Given the description of an element on the screen output the (x, y) to click on. 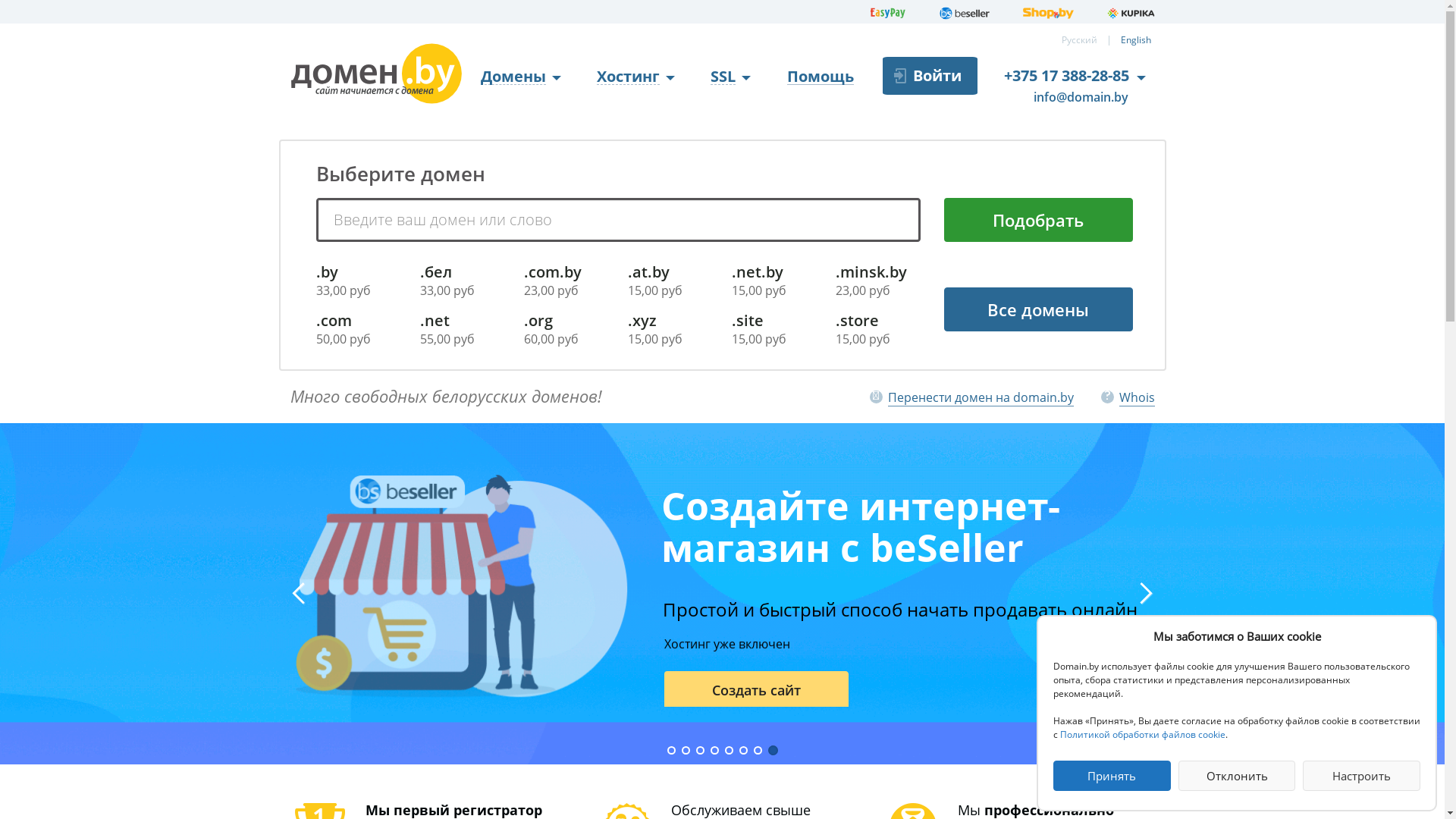
4 Element type: text (713, 750)
SSL Element type: text (730, 76)
8 Element type: text (772, 750)
+375 17 388-28-85 Element type: text (1066, 75)
info@domain.by Element type: text (1069, 97)
English Element type: text (1135, 39)
6 Element type: text (742, 750)
1 Element type: text (671, 750)
7 Element type: text (758, 750)
5 Element type: text (728, 750)
2 Element type: text (684, 750)
3 Element type: text (700, 750)
?Whois Element type: text (1127, 396)
